Given the description of an element on the screen output the (x, y) to click on. 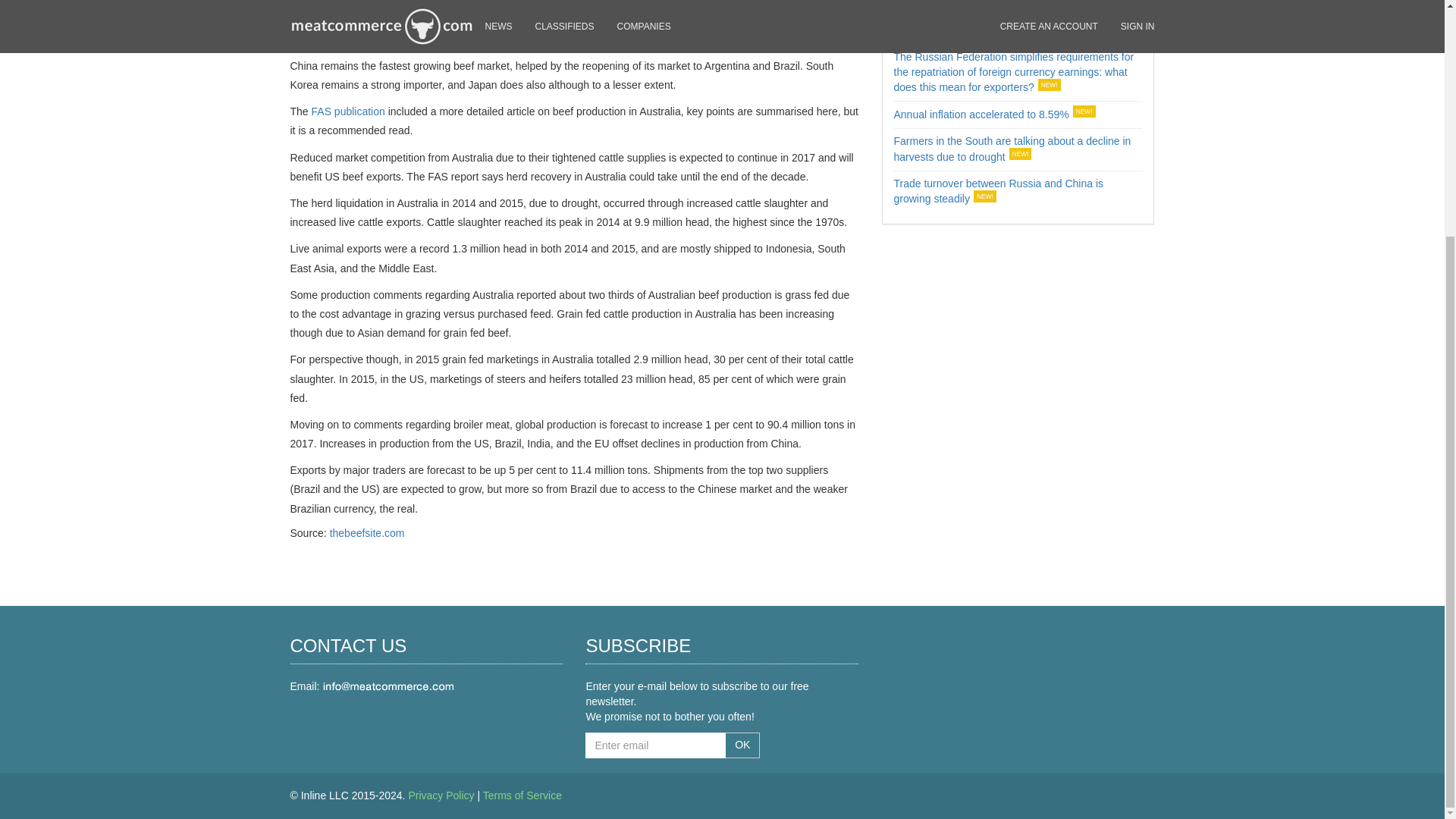
Terms of Service (522, 795)
FAS publication (348, 111)
Privacy Policy (440, 795)
Trade turnover between Russia and China is growing steadily (998, 191)
thebeefsite.com (367, 532)
thebeefsite.com (367, 532)
OK (742, 745)
